Given the description of an element on the screen output the (x, y) to click on. 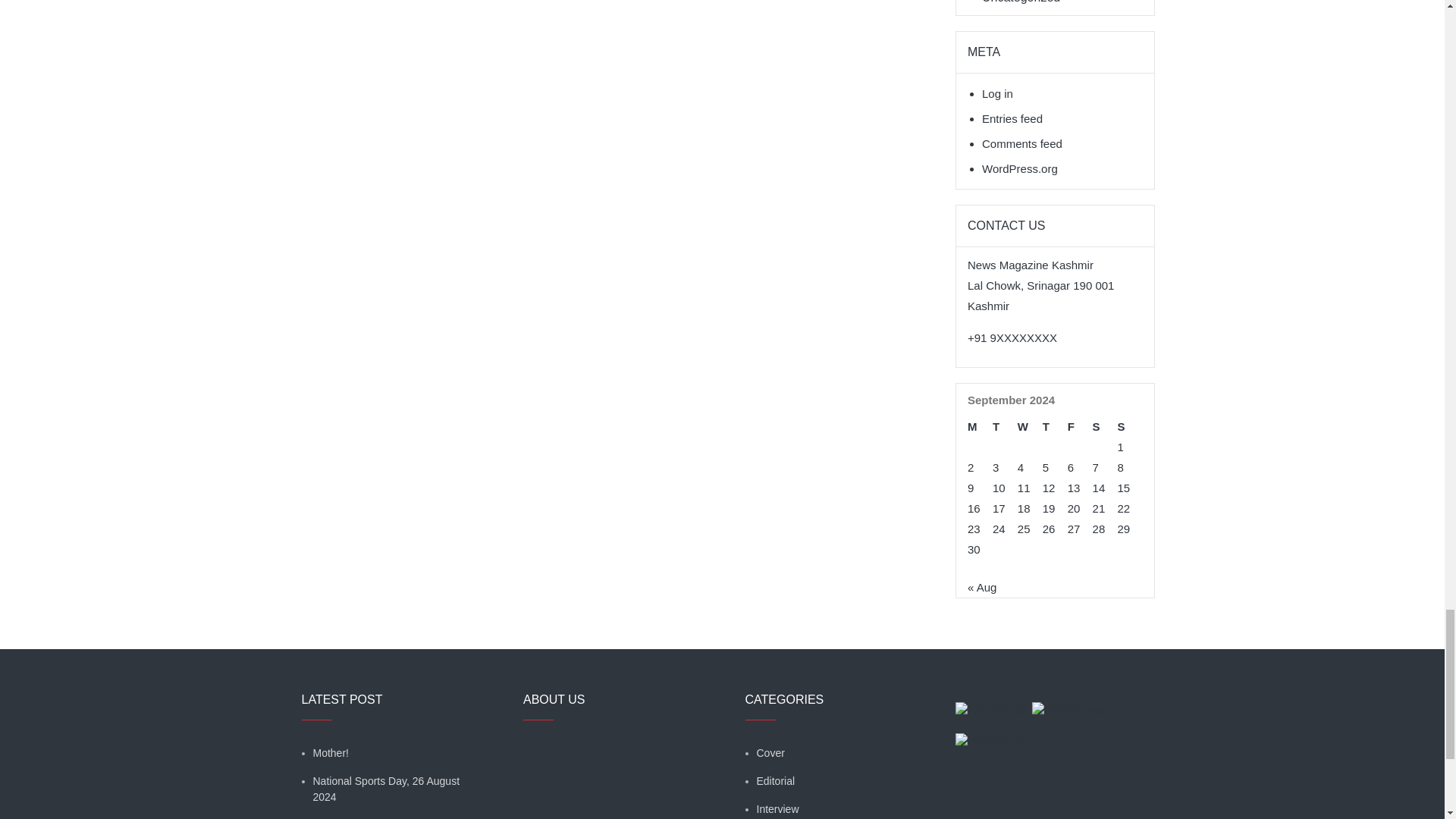
262x220 Ads (992, 732)
Monday (980, 426)
Saturday (1105, 426)
262x220 Ads (1068, 701)
Friday (1080, 426)
Tuesday (1004, 426)
Thursday (1054, 426)
Wednesday (1029, 426)
Sunday (1130, 426)
262x220 Ads (993, 701)
